Given the description of an element on the screen output the (x, y) to click on. 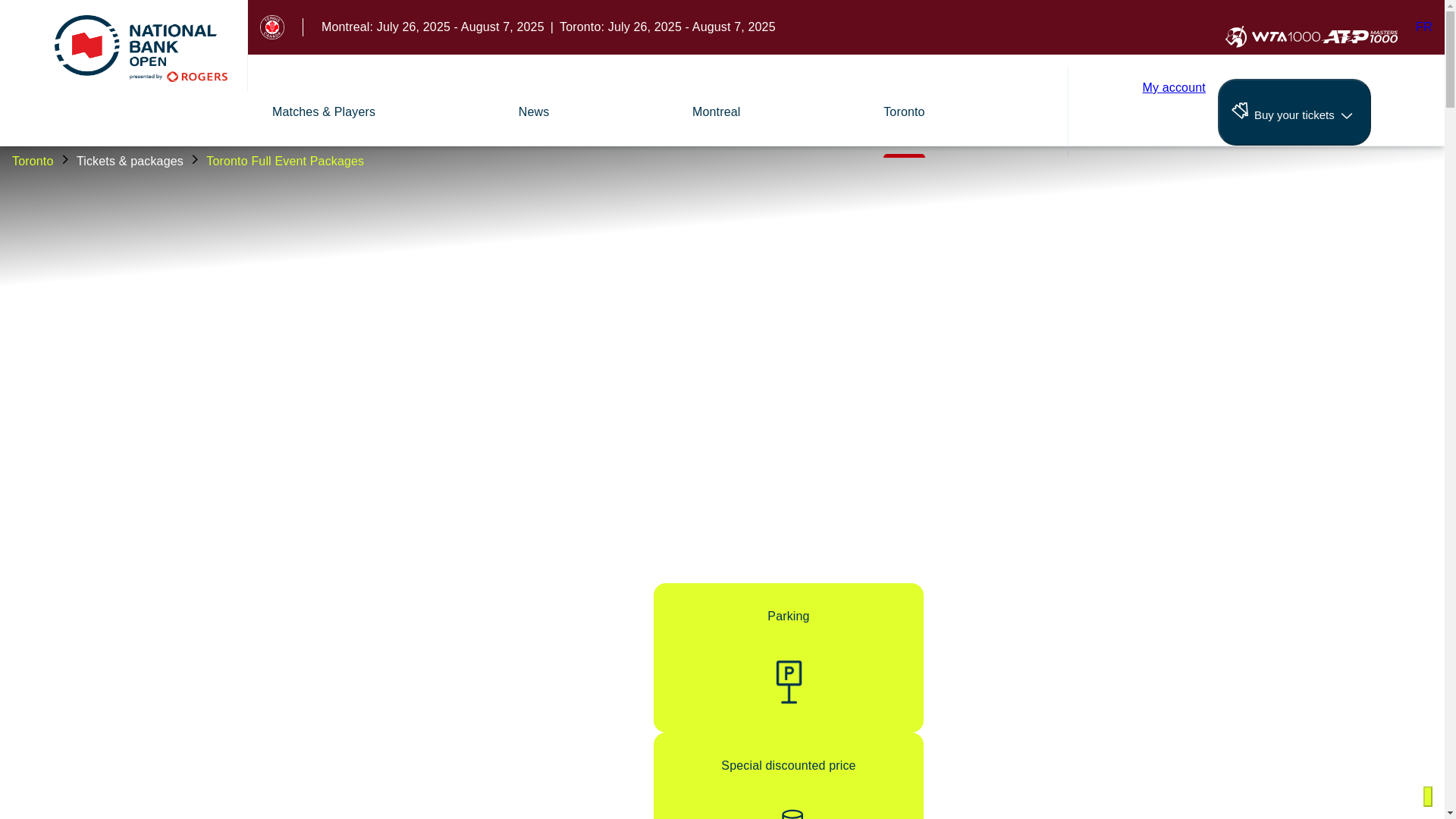
News (534, 111)
Buy your tickets (1173, 111)
